Given the description of an element on the screen output the (x, y) to click on. 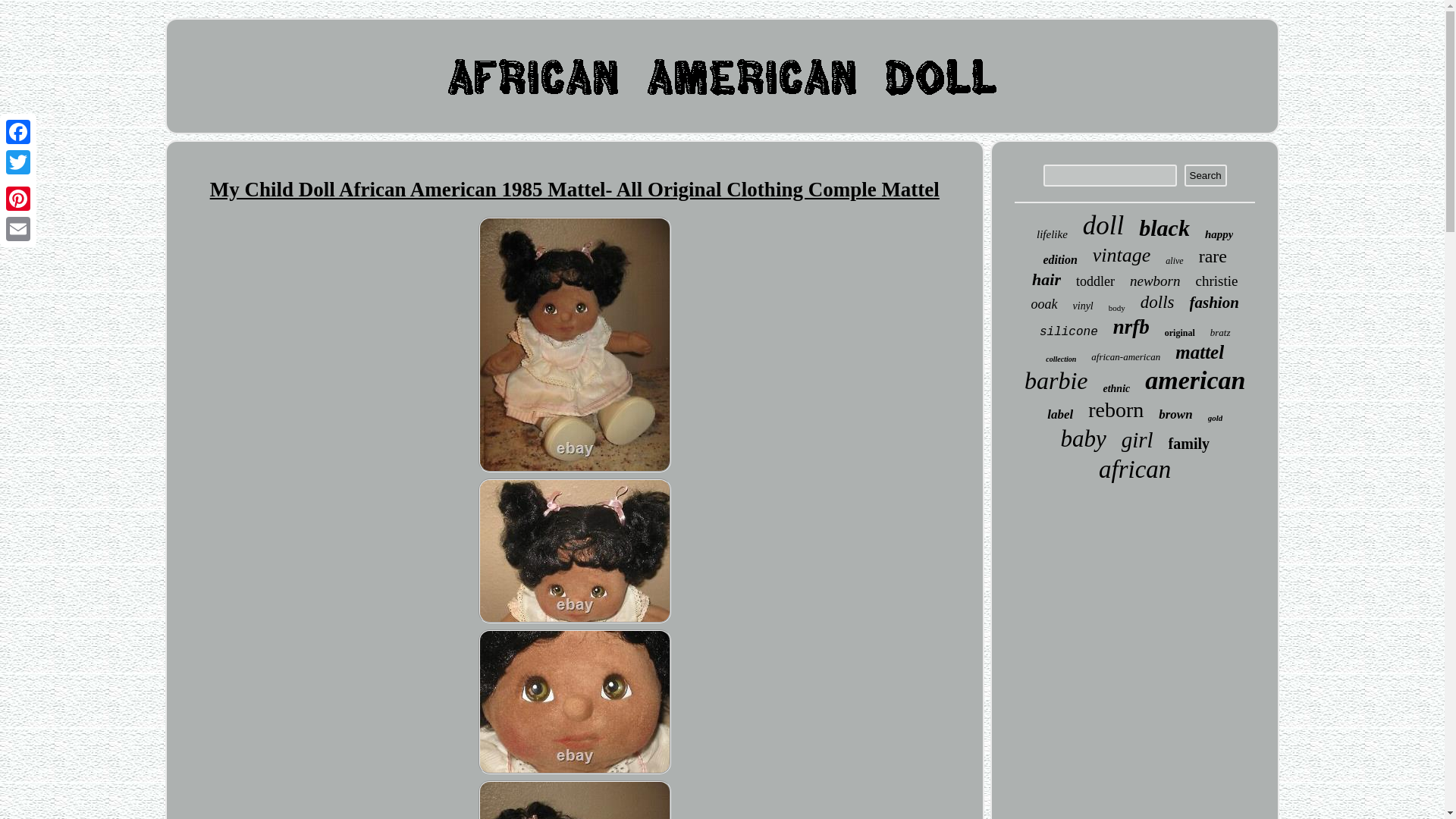
edition (1059, 259)
vintage (1122, 255)
Email (17, 228)
Pinterest (17, 198)
Facebook (17, 132)
alive (1174, 260)
lifelike (1051, 234)
doll (1103, 225)
Search (1206, 175)
newborn (1154, 280)
rare (1212, 256)
happy (1219, 234)
black (1163, 227)
